Given the description of an element on the screen output the (x, y) to click on. 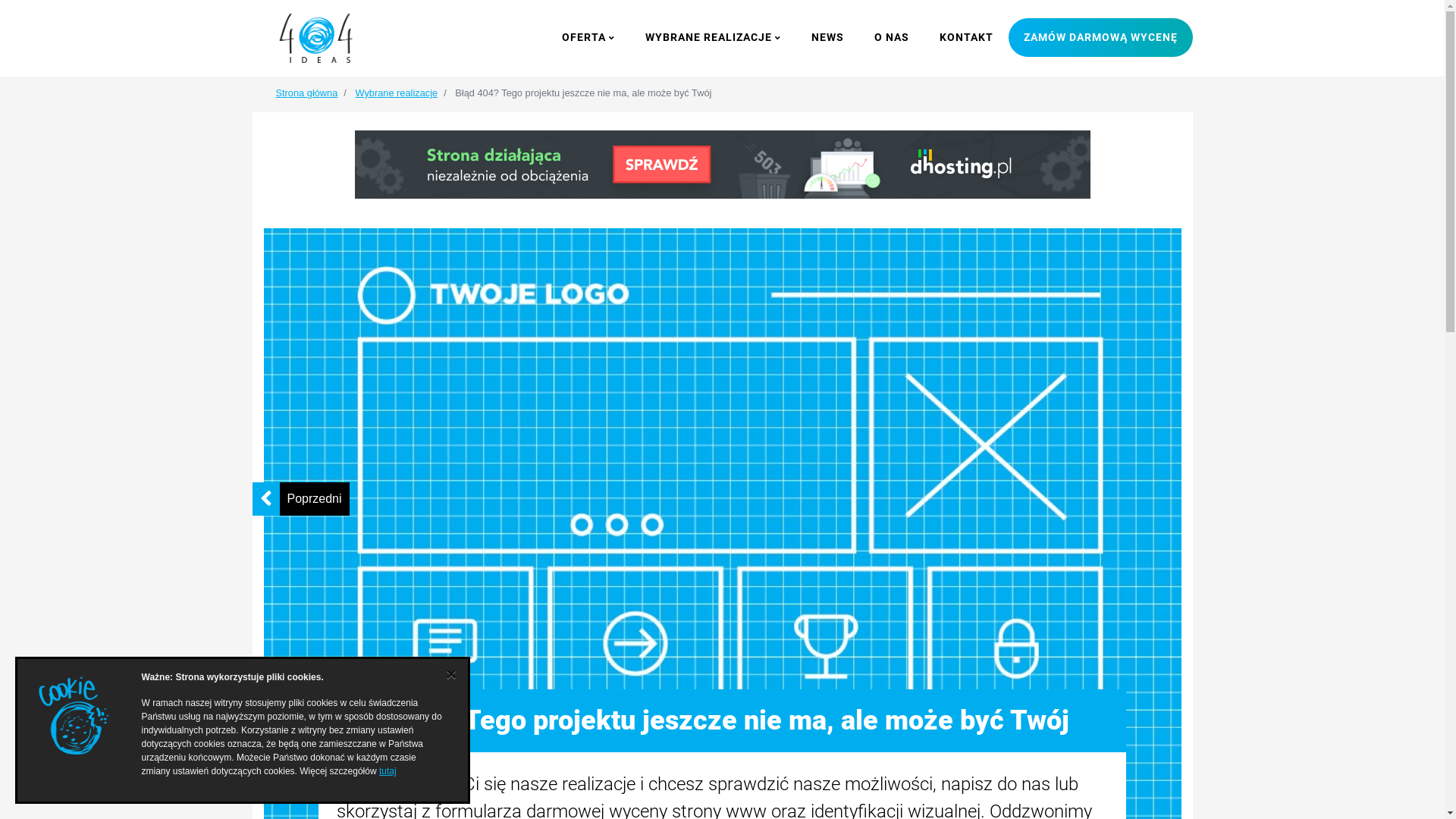
Wybrane realizacje Element type: text (395, 92)
OFERTA Element type: text (587, 37)
O NAS Element type: text (890, 37)
tutaj Element type: text (387, 770)
KONTAKT Element type: text (965, 37)
NEWS Element type: text (827, 37)
WYBRANE REALIZACJE Element type: text (712, 37)
Poprzedni Element type: text (313, 498)
